Given the description of an element on the screen output the (x, y) to click on. 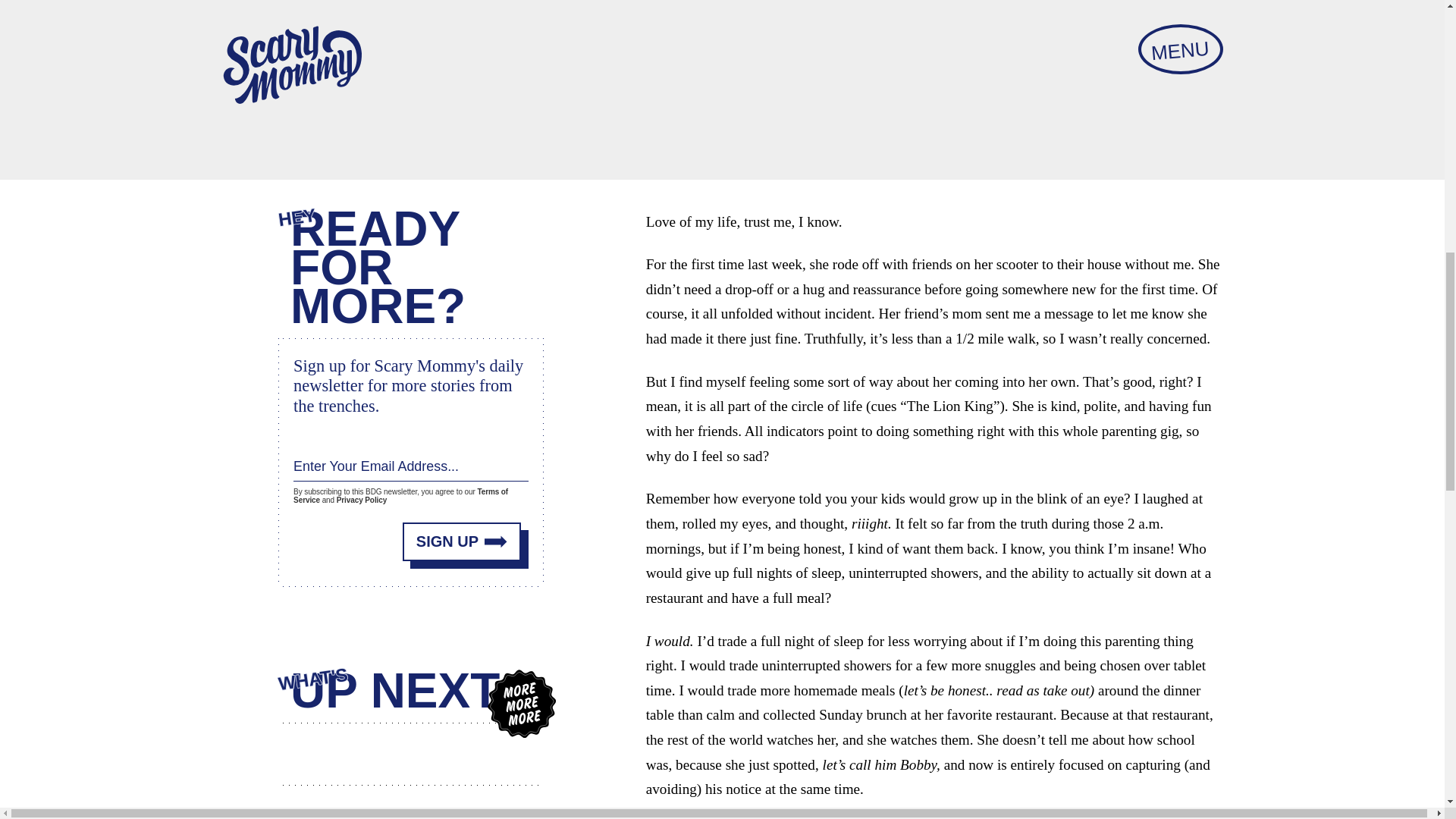
Terms of Service (401, 495)
Privacy Policy (361, 500)
SIGN UP (462, 541)
